Given the description of an element on the screen output the (x, y) to click on. 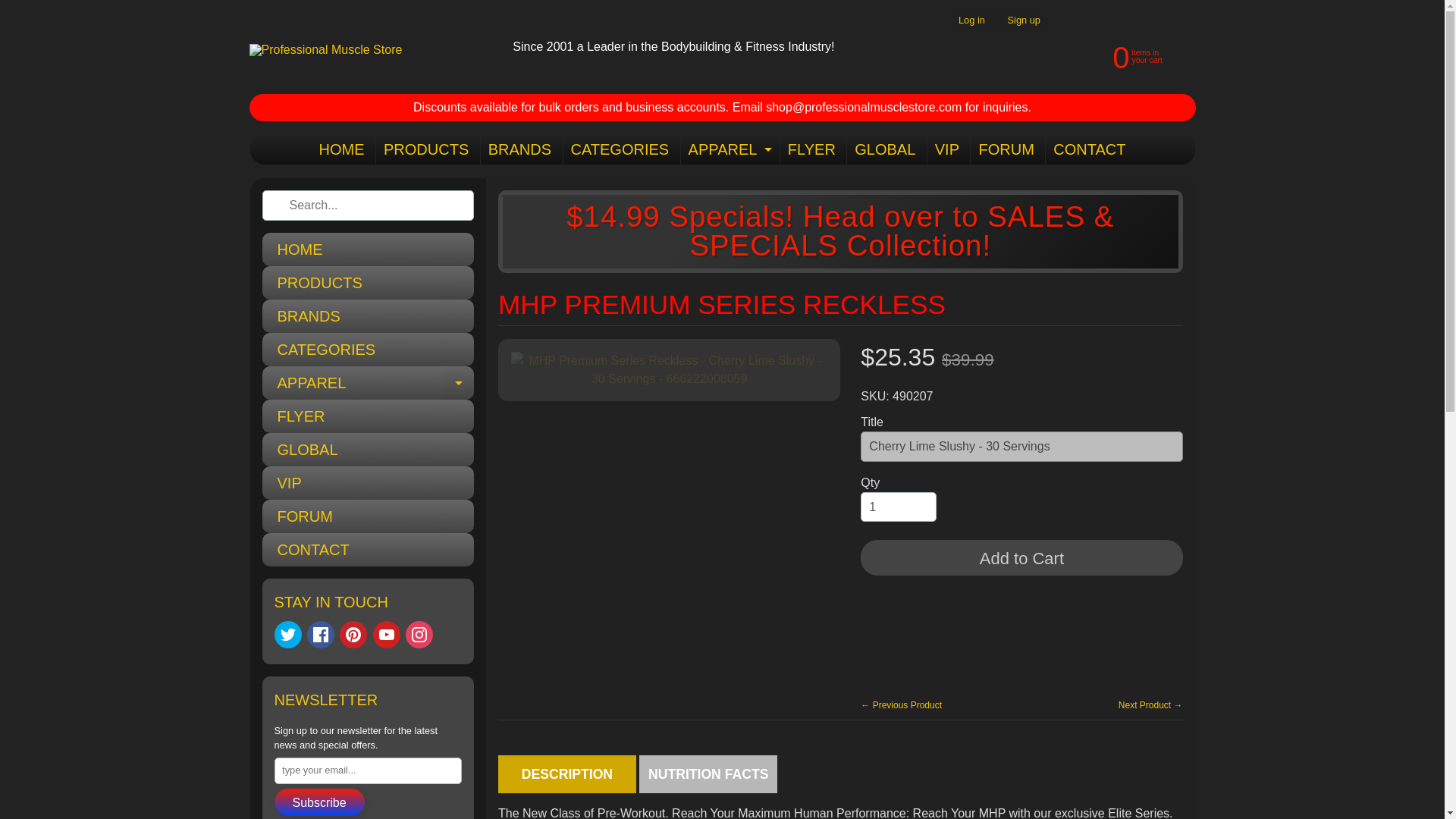
CATEGORIES (619, 149)
Expand child menu (459, 382)
Professional Muscle Store (324, 50)
FLYER (368, 416)
PRODUCTS (425, 149)
Pinterest (352, 634)
Facebook (320, 634)
GLOBAL (885, 149)
Twitter (288, 634)
CONTACT (1088, 149)
Instagram (419, 634)
HOME (368, 382)
Youtube (368, 249)
